Given the description of an element on the screen output the (x, y) to click on. 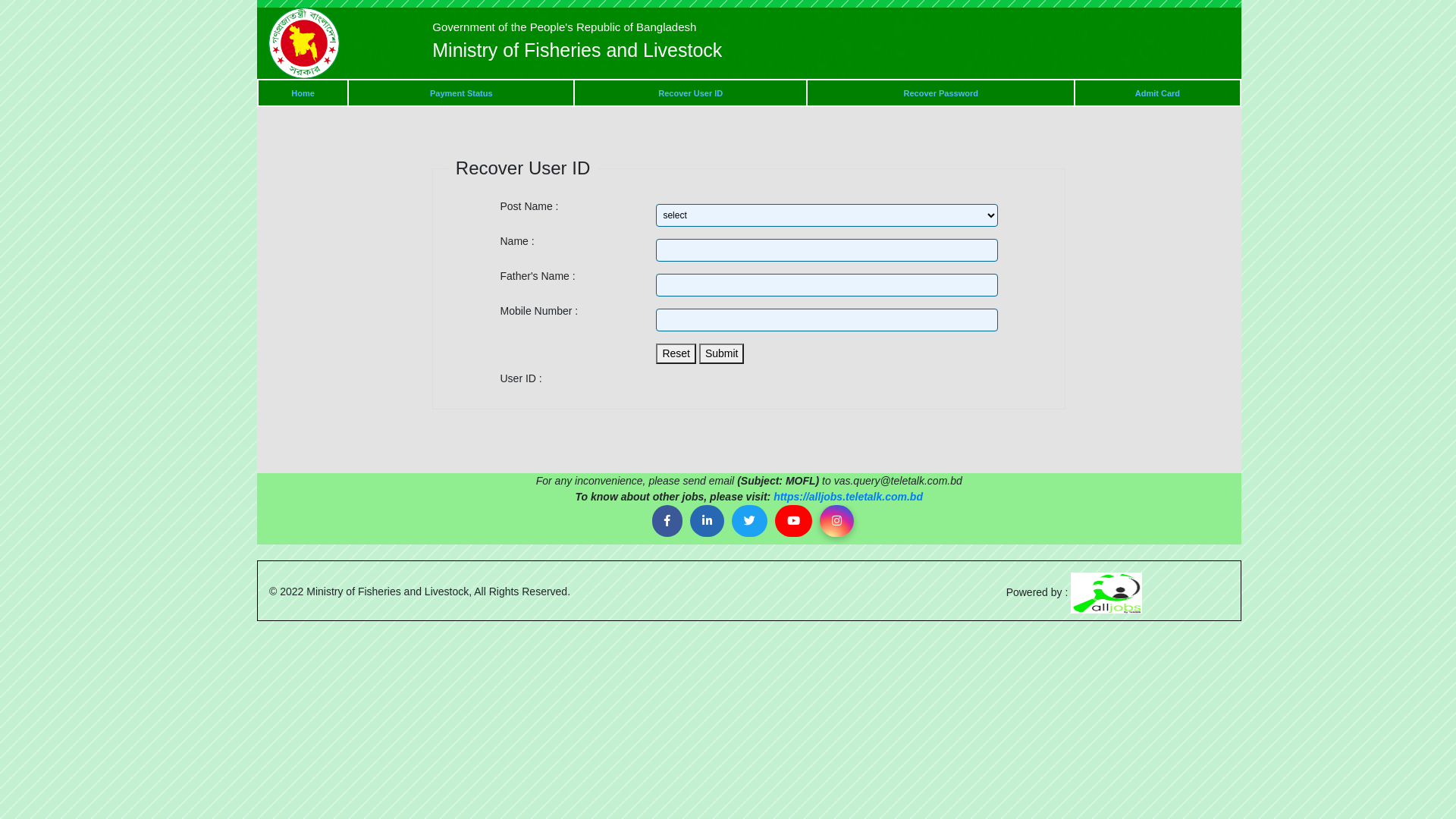
Payment Status Element type: text (460, 92)
Twitter Element type: hover (749, 521)
Submit Element type: text (721, 353)
Home Element type: text (302, 92)
Instagram Element type: hover (836, 521)
https://alljobs.teletalk.com.bd Element type: text (847, 496)
Linkedin Element type: hover (707, 521)
Youtube Element type: hover (793, 521)
Facebook Element type: hover (667, 521)
Reset Element type: text (675, 353)
Recover Password Element type: text (940, 92)
Admit Card Element type: text (1157, 92)
Recover User ID Element type: text (690, 92)
